Given the description of an element on the screen output the (x, y) to click on. 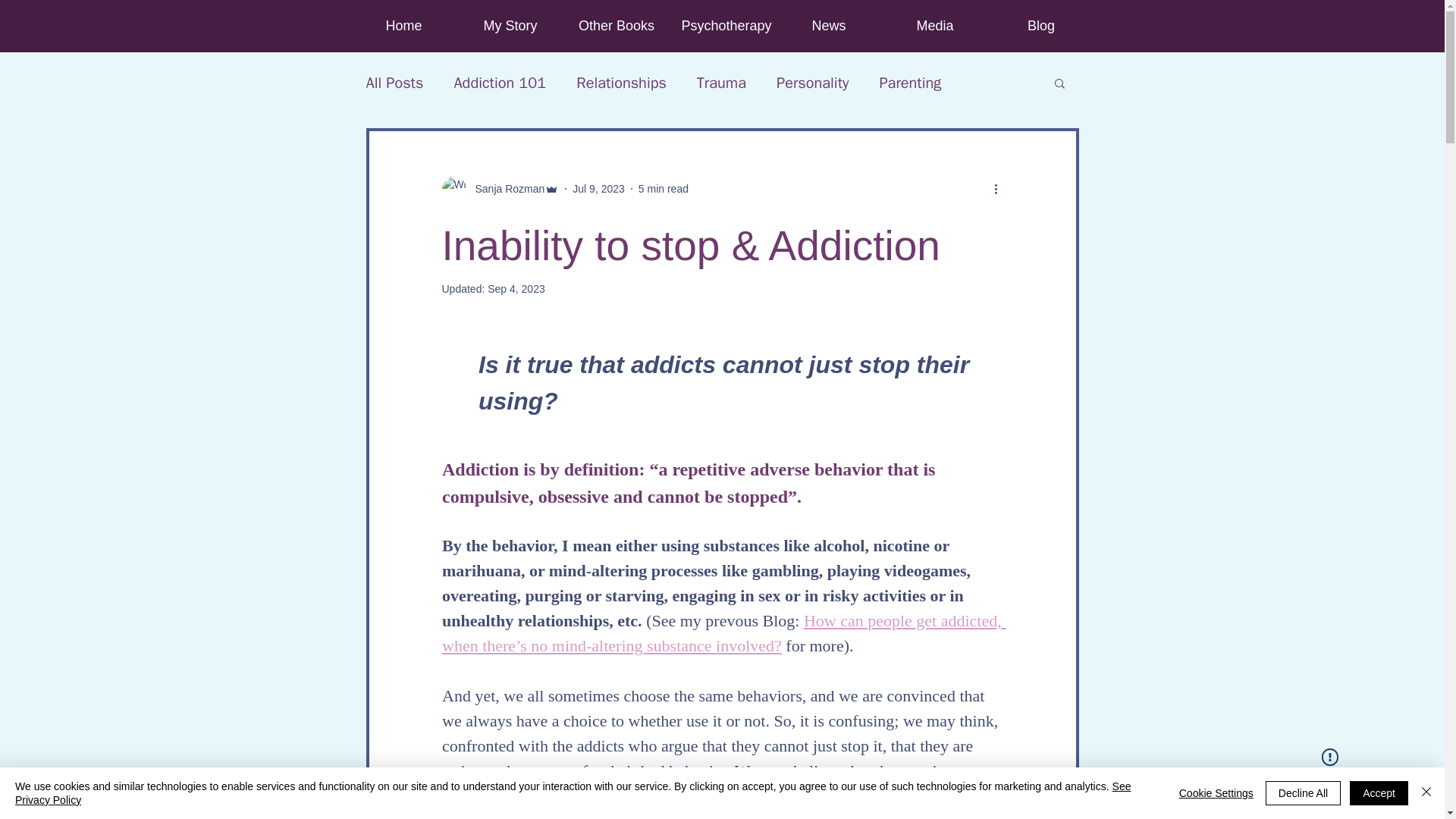
5 min read (663, 187)
Other Books (615, 26)
Home (403, 26)
All Posts (394, 82)
Personality (812, 82)
Sanja Rozman (504, 188)
Media (933, 26)
Jul 9, 2023 (598, 187)
News (827, 26)
Trauma (721, 82)
Psychotherapy (721, 26)
Sep 4, 2023 (515, 288)
Relationships (621, 82)
Addiction 101 (499, 82)
Parenting (909, 82)
